Given the description of an element on the screen output the (x, y) to click on. 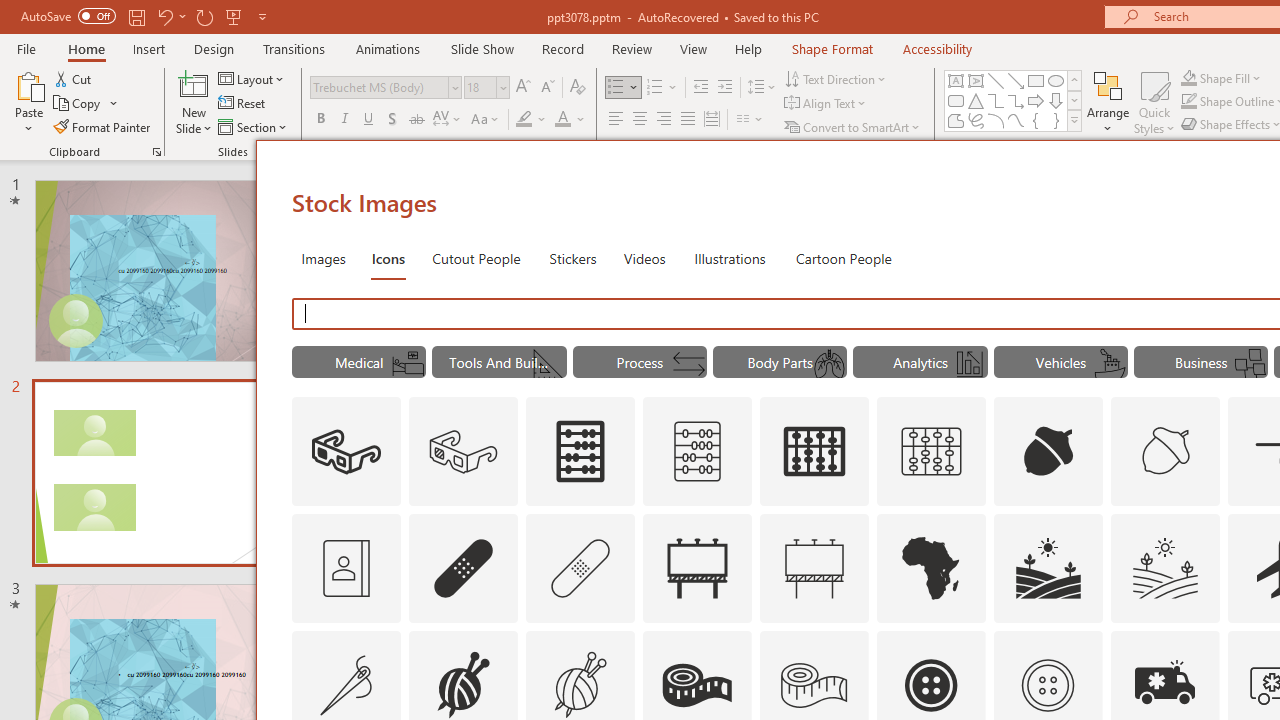
Videos (644, 258)
AutomationID: Icons_Acorn_M (1165, 452)
Illustrations (729, 258)
